Given the description of an element on the screen output the (x, y) to click on. 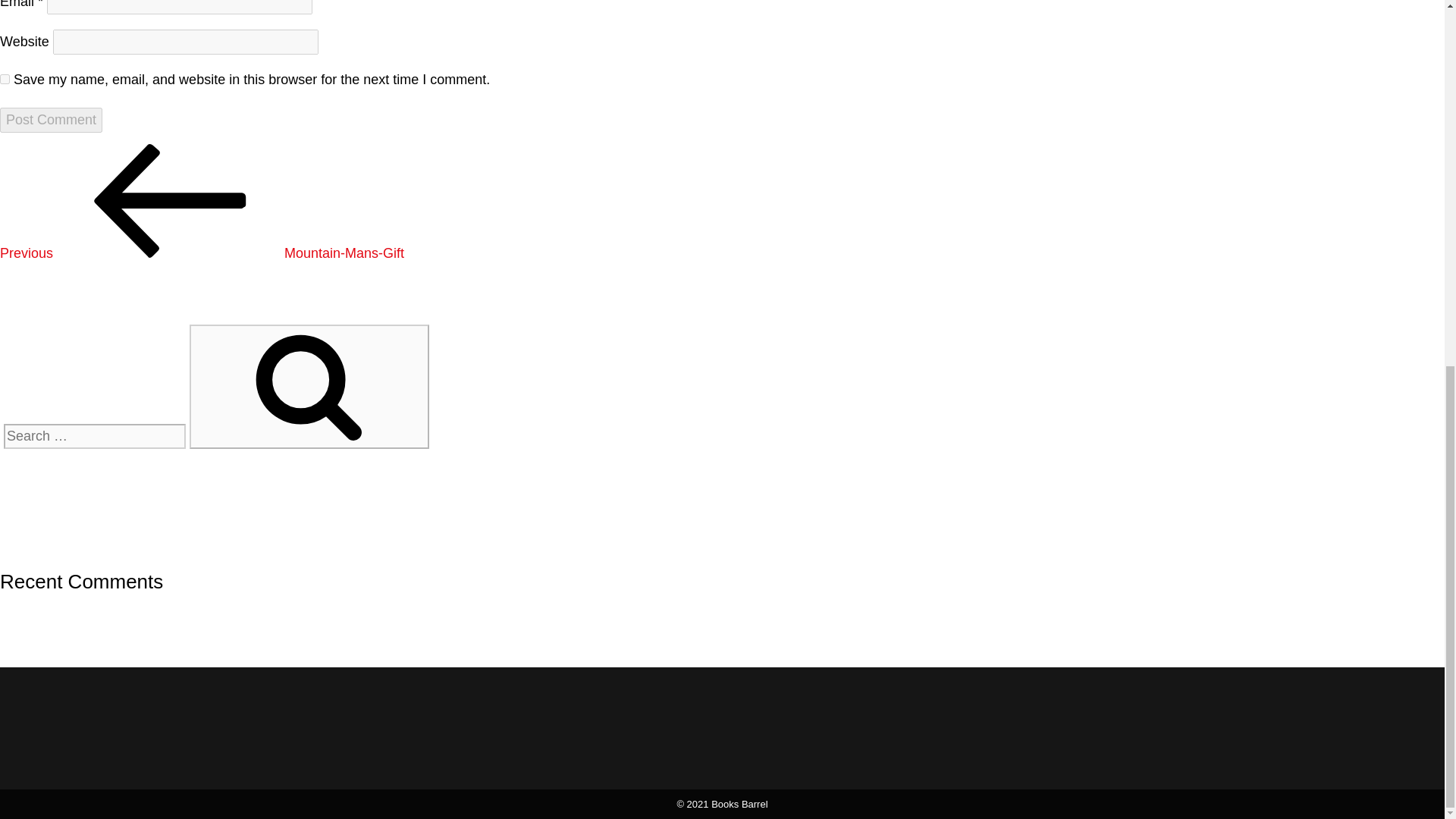
yes (5, 79)
Post Comment (50, 119)
Search (309, 386)
Post Comment (202, 253)
